Given the description of an element on the screen output the (x, y) to click on. 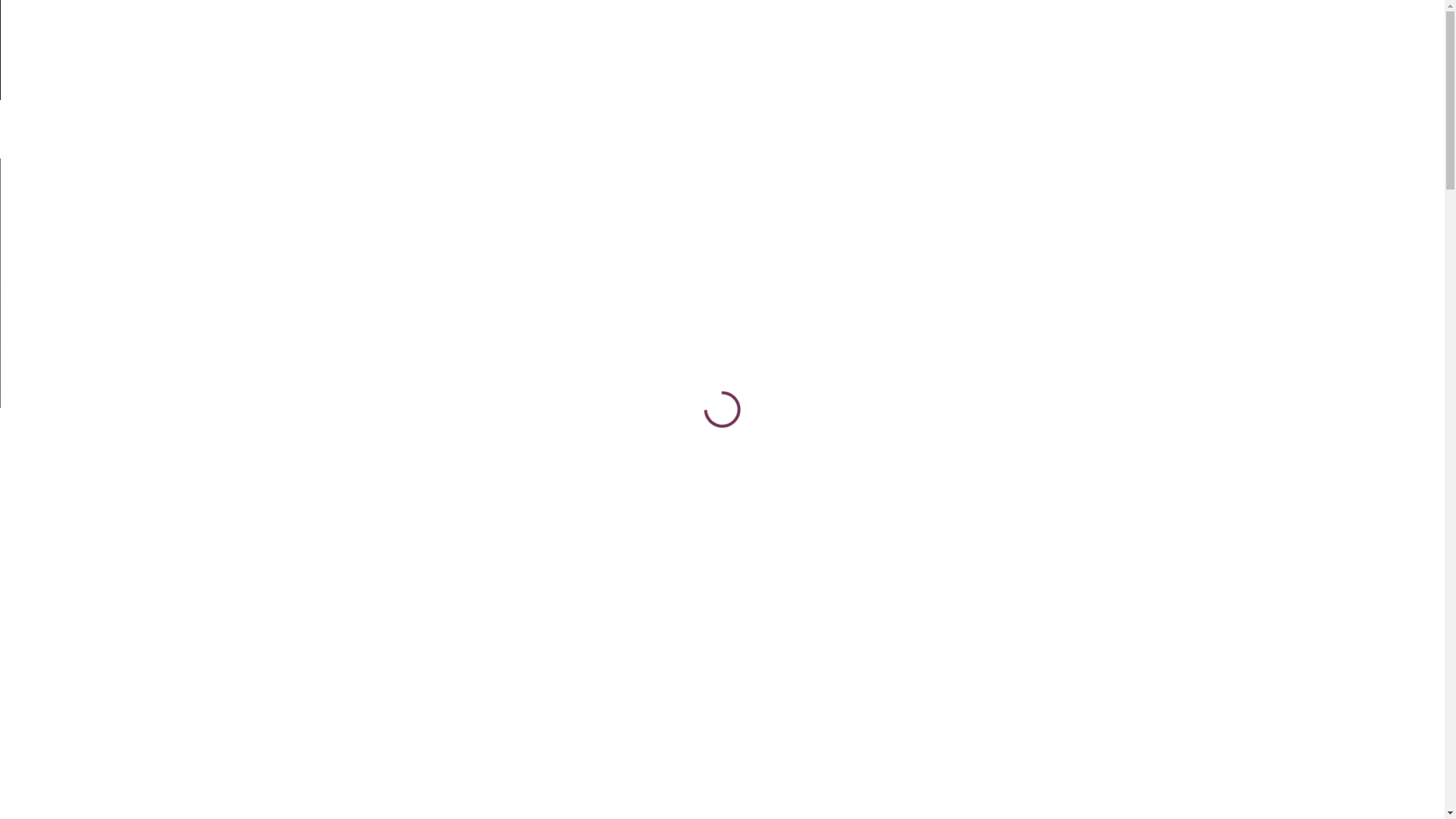
Ana Sayfa Element type: text (639, 324)
Iletisim Element type: text (784, 129)
Sayfalar Element type: text (717, 324)
Raporlar Element type: text (703, 129)
Ana Sayfa Element type: text (264, 129)
